Given the description of an element on the screen output the (x, y) to click on. 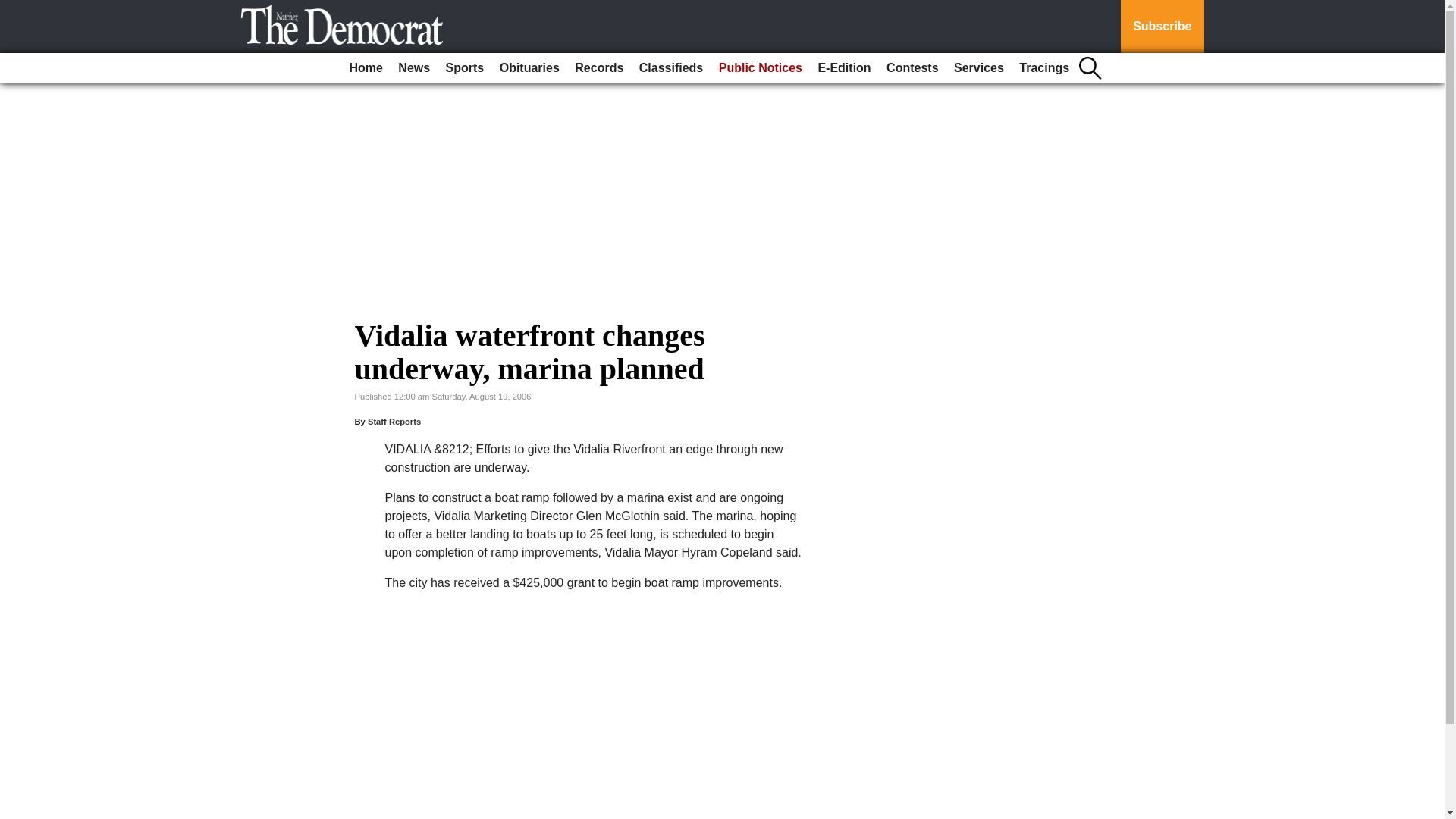
Classifieds (671, 68)
Subscribe (1162, 26)
Home (365, 68)
Records (598, 68)
Services (978, 68)
Tracings (1044, 68)
News (413, 68)
Staff Reports (394, 420)
Public Notices (760, 68)
Go (13, 9)
